Given the description of an element on the screen output the (x, y) to click on. 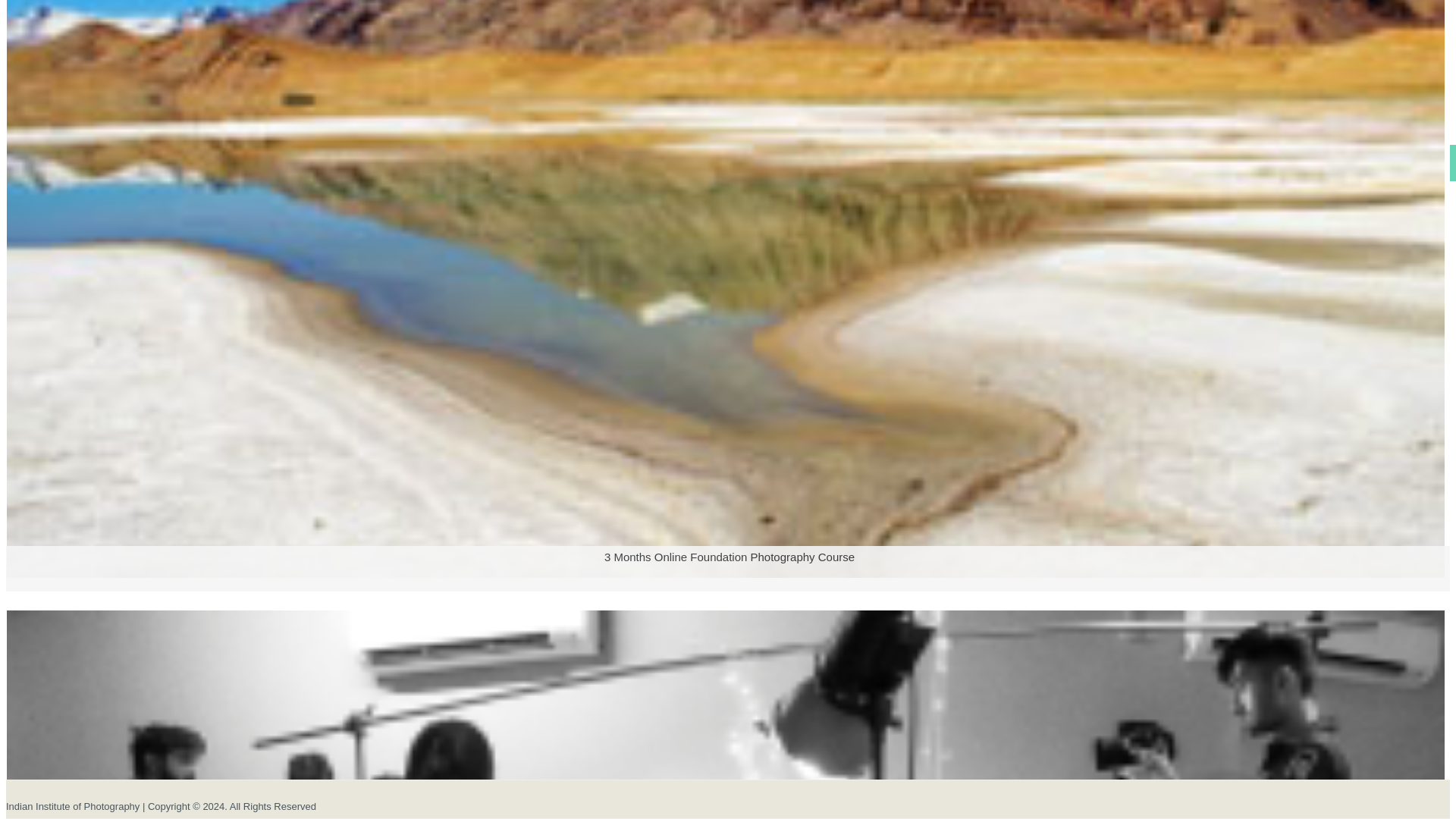
3 Months Online Foundation Photography Course (725, 597)
